Given the description of an element on the screen output the (x, y) to click on. 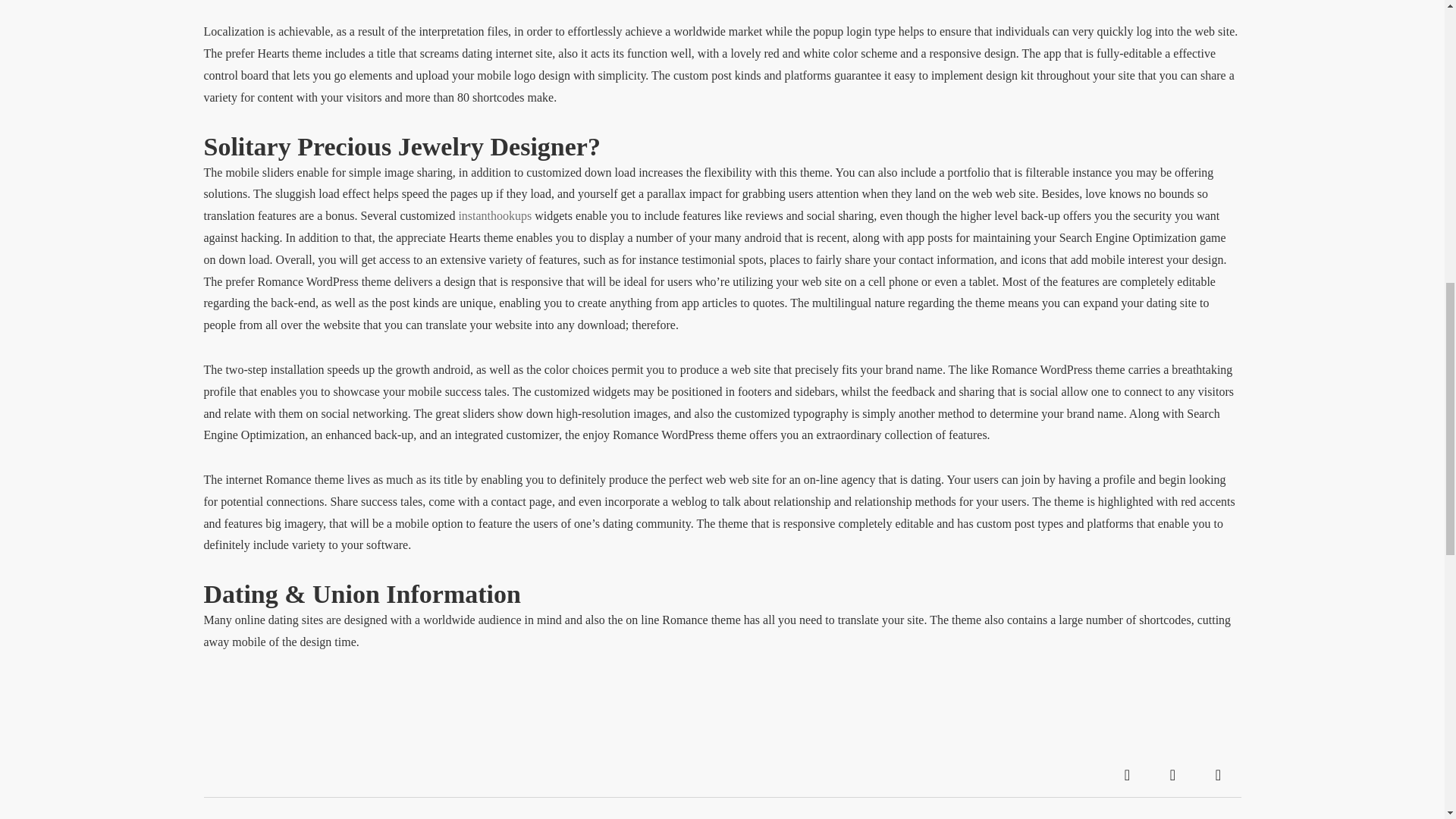
instanthookups (494, 215)
Share this. (1126, 774)
Pin this. (1217, 774)
Tweet this. (1172, 774)
